Given the description of an element on the screen output the (x, y) to click on. 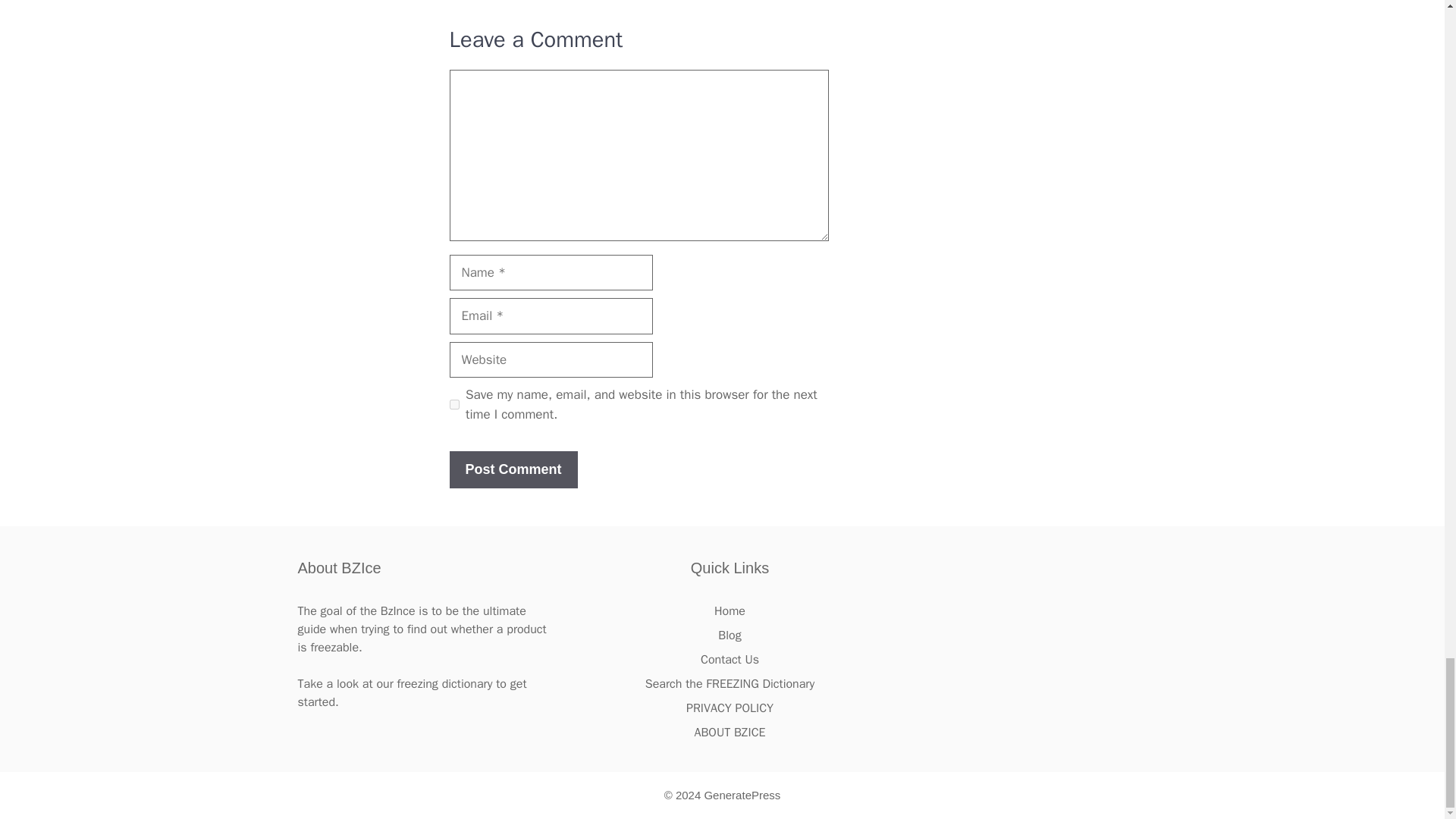
PRIVACY POLICY (729, 708)
Contact Us (729, 659)
Search the FREEZING Dictionary (729, 683)
Blog (729, 635)
ABOUT BZICE (729, 732)
Post Comment (512, 469)
yes (453, 404)
Post Comment (512, 469)
Home (729, 611)
